Given the description of an element on the screen output the (x, y) to click on. 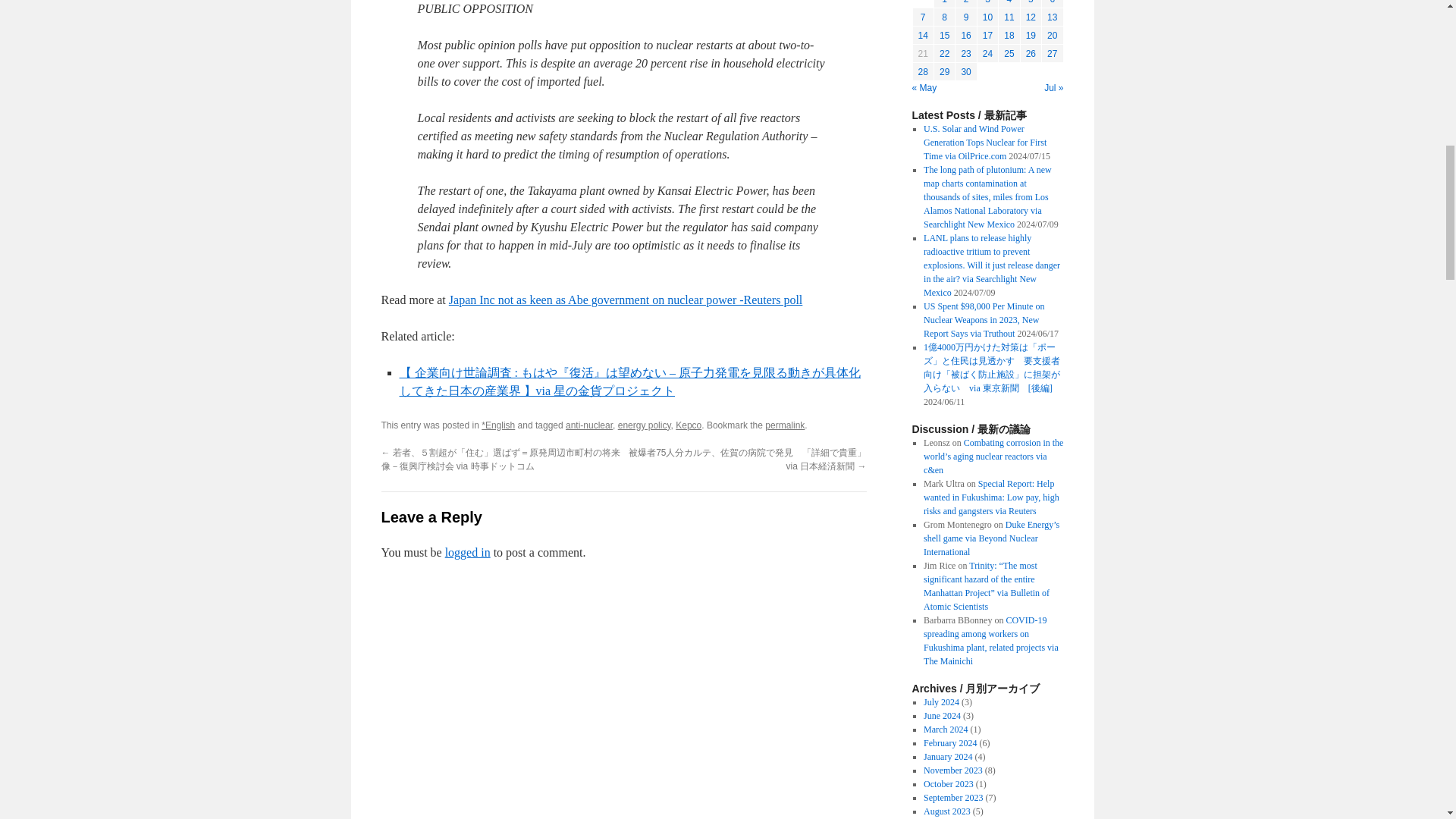
permalink (785, 425)
energy policy (644, 425)
Kepco (688, 425)
anti-nuclear (589, 425)
